Given the description of an element on the screen output the (x, y) to click on. 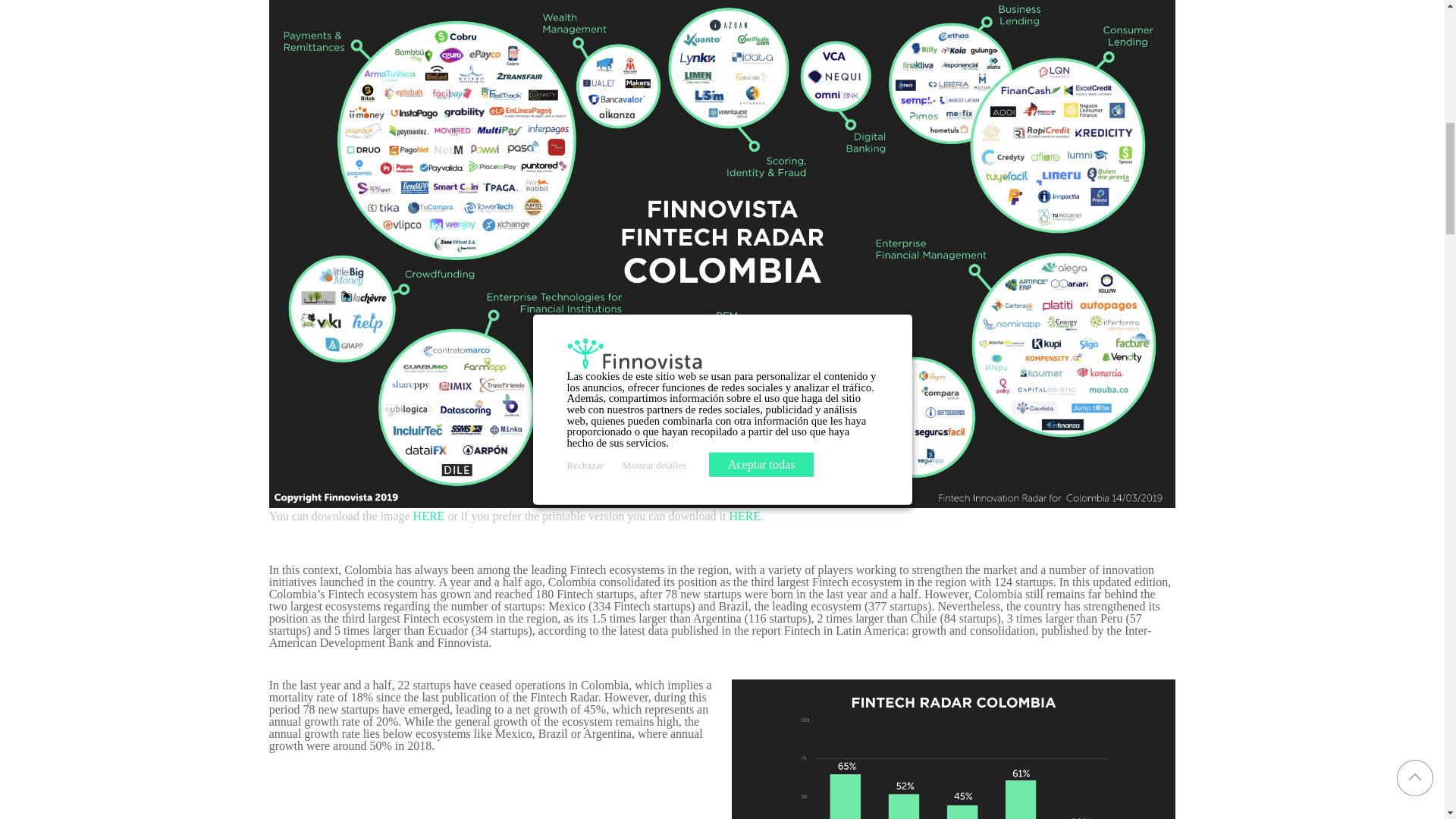
HERE (429, 515)
1-Growth-per-country.001 (954, 749)
